Given the description of an element on the screen output the (x, y) to click on. 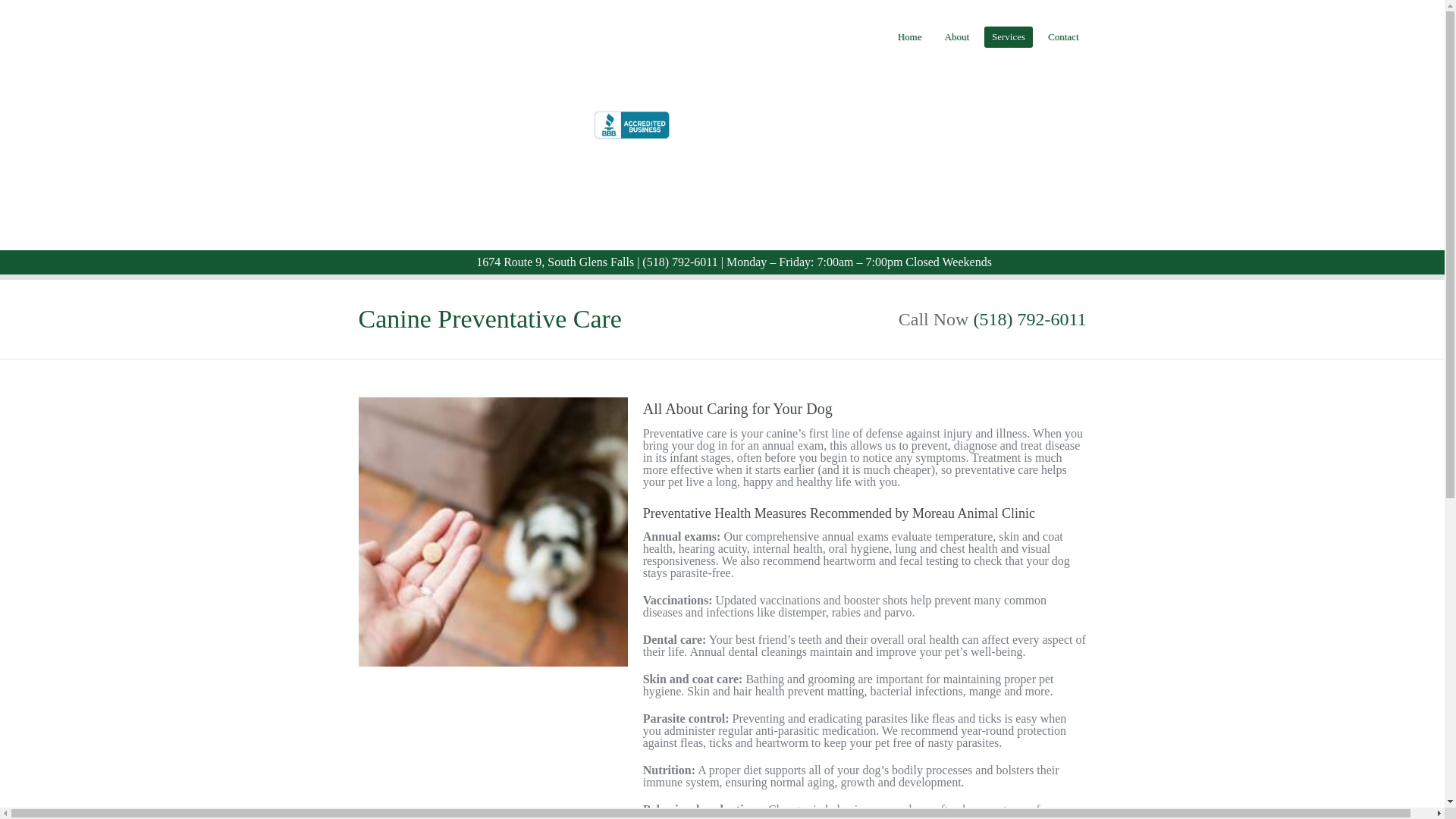
Home (909, 36)
Contact (1063, 36)
Moreau Animal Clinic (471, 228)
Services (1008, 36)
About (956, 36)
